Given the description of an element on the screen output the (x, y) to click on. 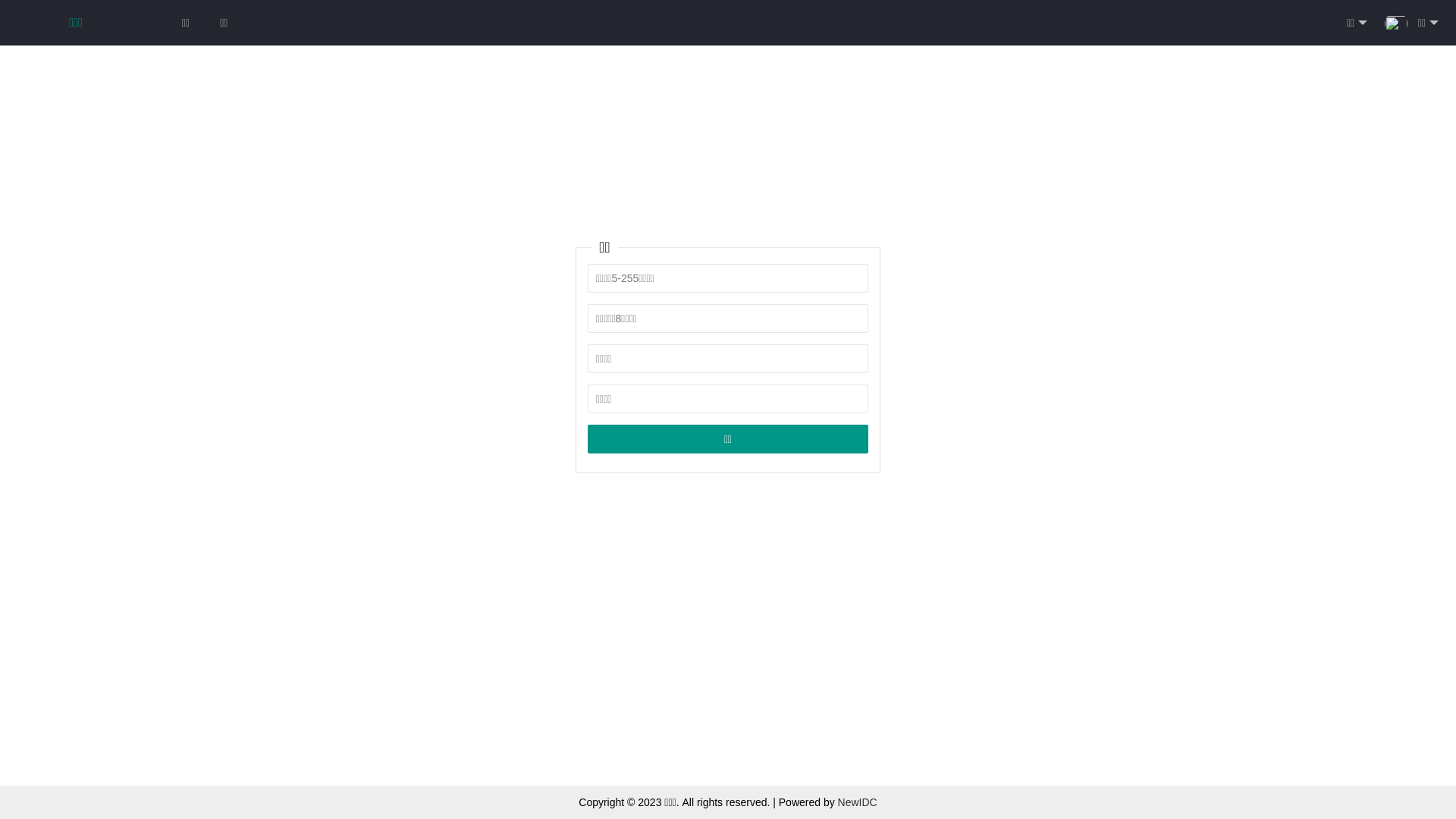
NewIDC Element type: text (857, 802)
